Given the description of an element on the screen output the (x, y) to click on. 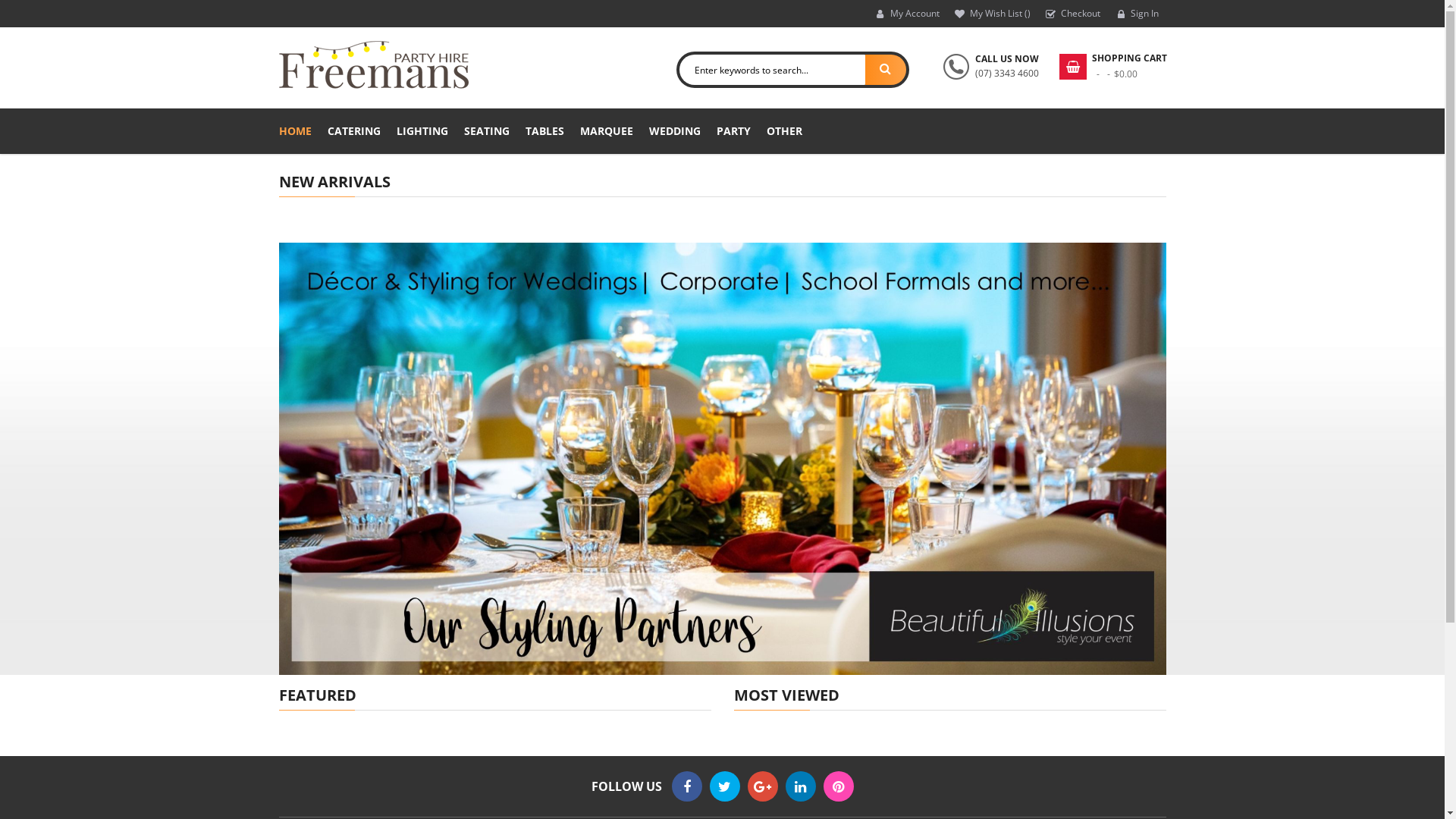
Search Element type: hover (884, 69)
Sign In Element type: text (1136, 13)
Checkout Element type: text (1072, 13)
Pinterest Element type: hover (838, 786)
SHOPPING CART
$0.00 Element type: text (1111, 67)
(07) 3343 4600 Element type: text (1006, 72)
Google+ Element type: hover (762, 786)
Linkedin Element type: hover (800, 786)
WEDDING Element type: text (674, 130)
CATERING Element type: text (353, 130)
TABLES Element type: text (543, 130)
PARTY Element type: text (732, 130)
OTHER Element type: text (783, 130)
Twitter Element type: hover (724, 786)
HOME Element type: text (295, 130)
SEATING Element type: text (486, 130)
Facebook Element type: hover (686, 786)
LIGHTING Element type: text (421, 130)
My Wish List Element type: text (991, 13)
Beautiful Illusions Element type: hover (722, 457)
My Account Element type: text (907, 13)
MARQUEE Element type: text (605, 130)
